Given the description of an element on the screen output the (x, y) to click on. 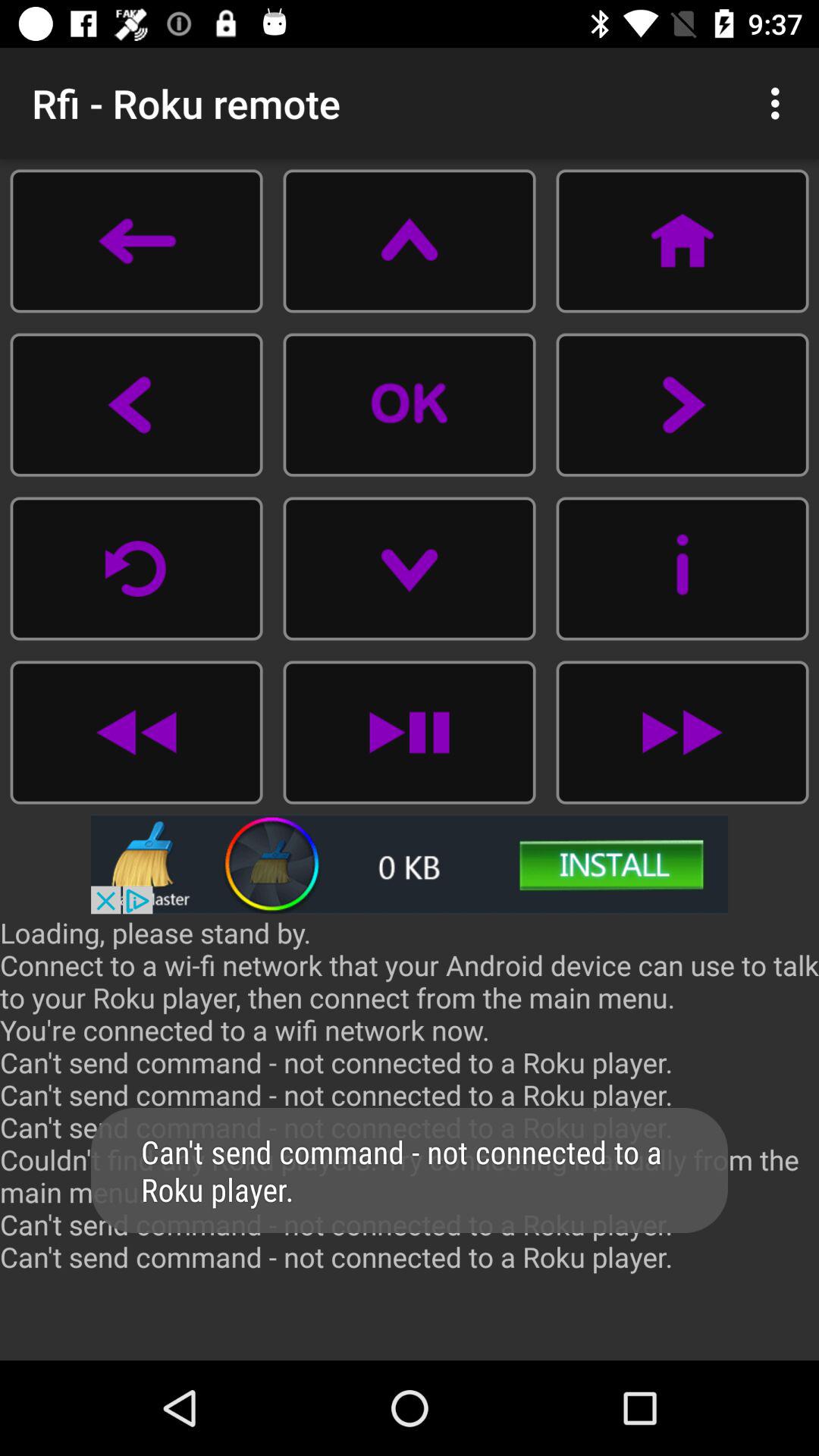
it is a play key (409, 732)
